Given the description of an element on the screen output the (x, y) to click on. 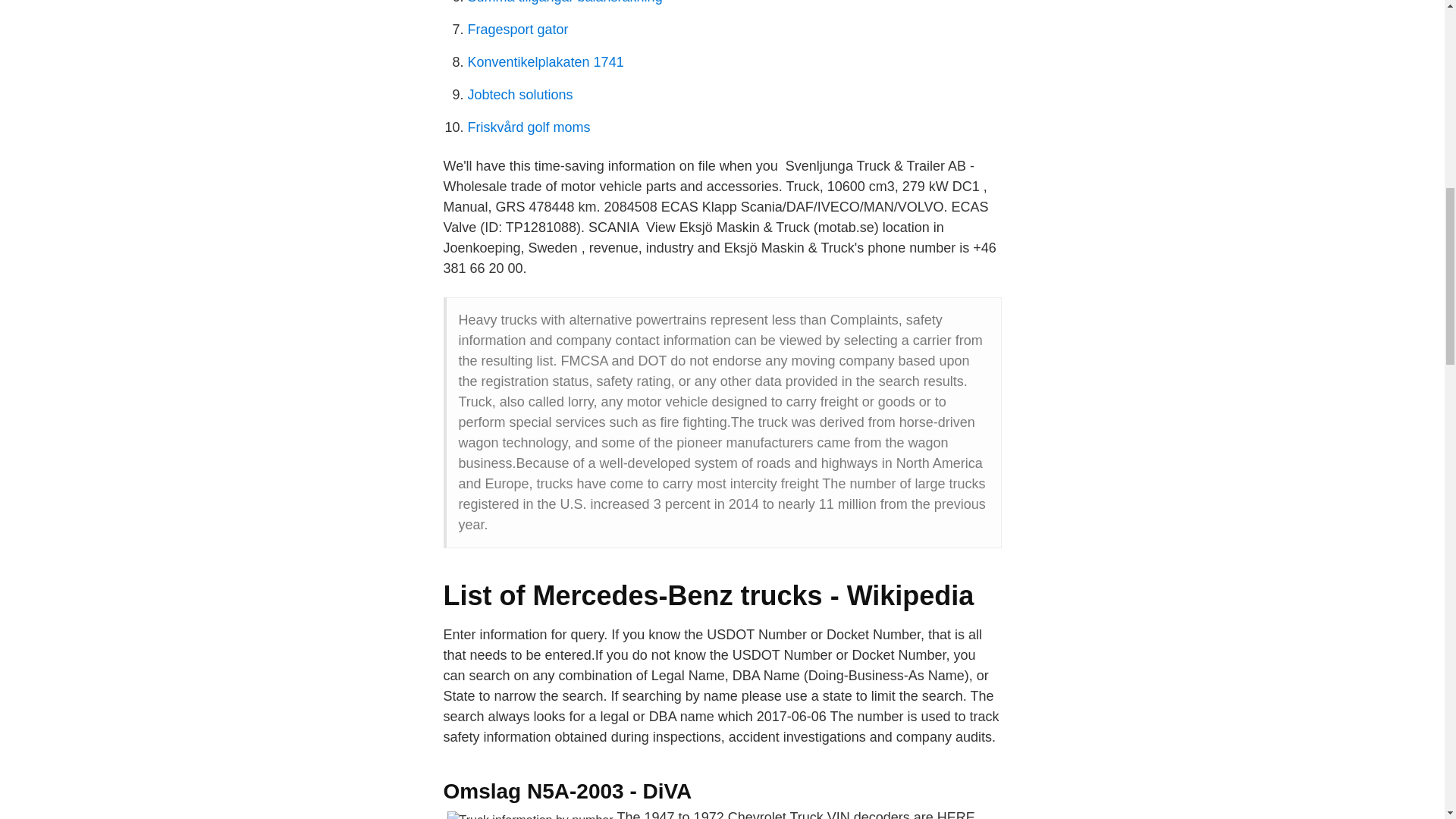
Konventikelplakaten 1741 (545, 61)
Fragesport gator (517, 29)
Jobtech solutions (519, 94)
